Given the description of an element on the screen output the (x, y) to click on. 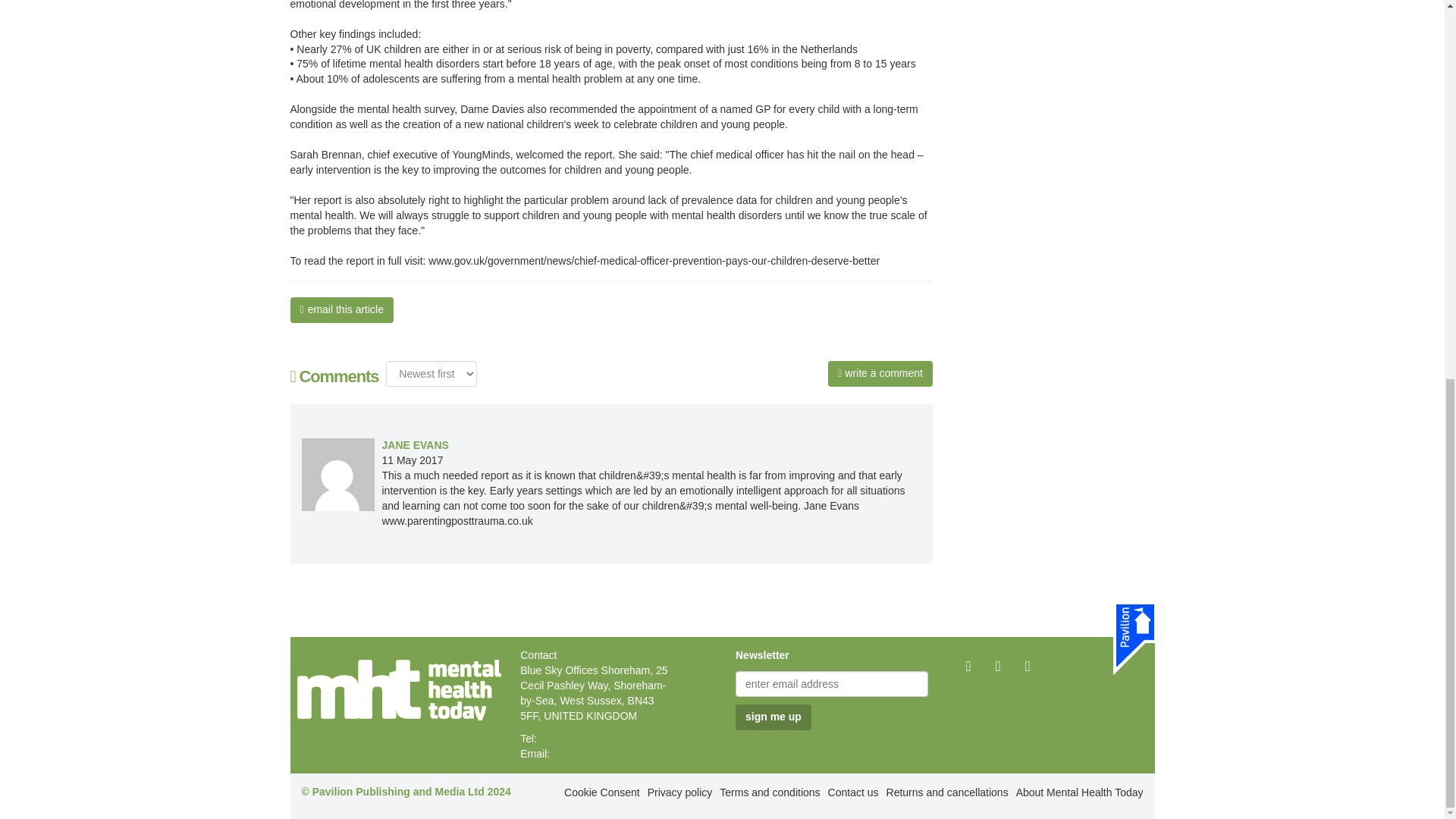
Sign me up (772, 717)
Sign me up (772, 717)
Email this page (341, 309)
